Given the description of an element on the screen output the (x, y) to click on. 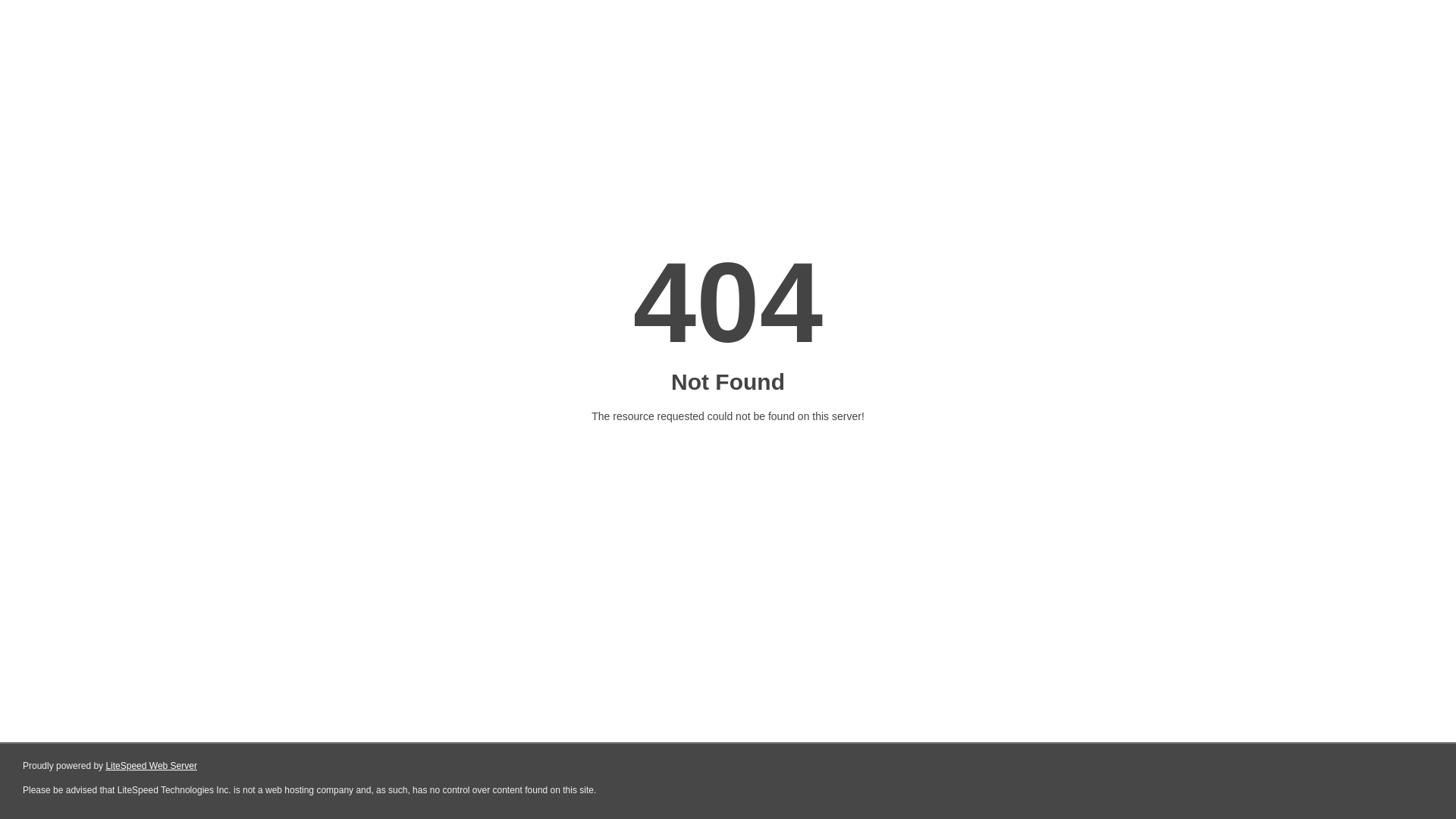
LiteSpeed Web Server Element type: text (151, 765)
